Given the description of an element on the screen output the (x, y) to click on. 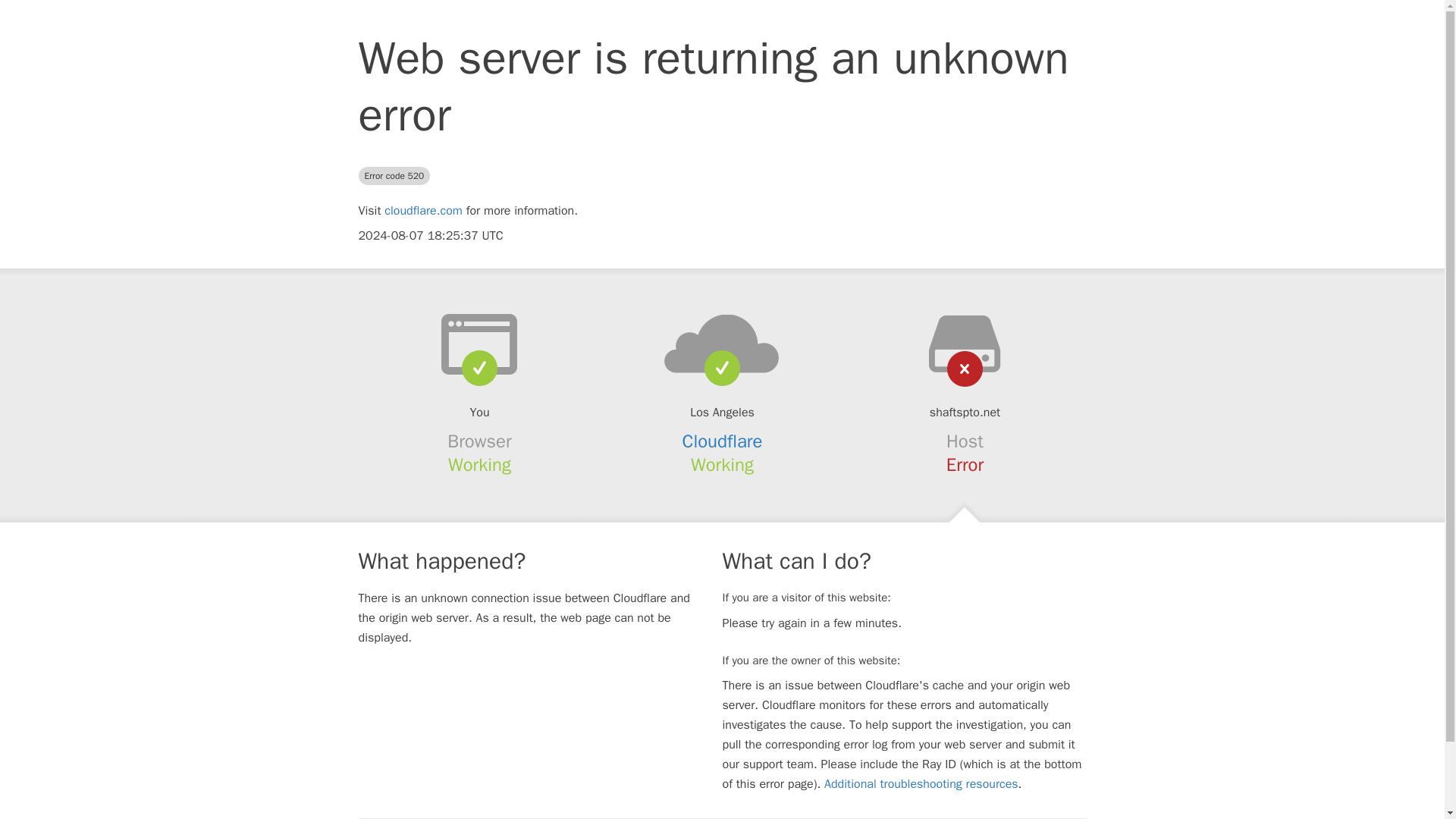
Cloudflare (722, 440)
cloudflare.com (423, 210)
Additional troubleshooting resources (920, 783)
